Given the description of an element on the screen output the (x, y) to click on. 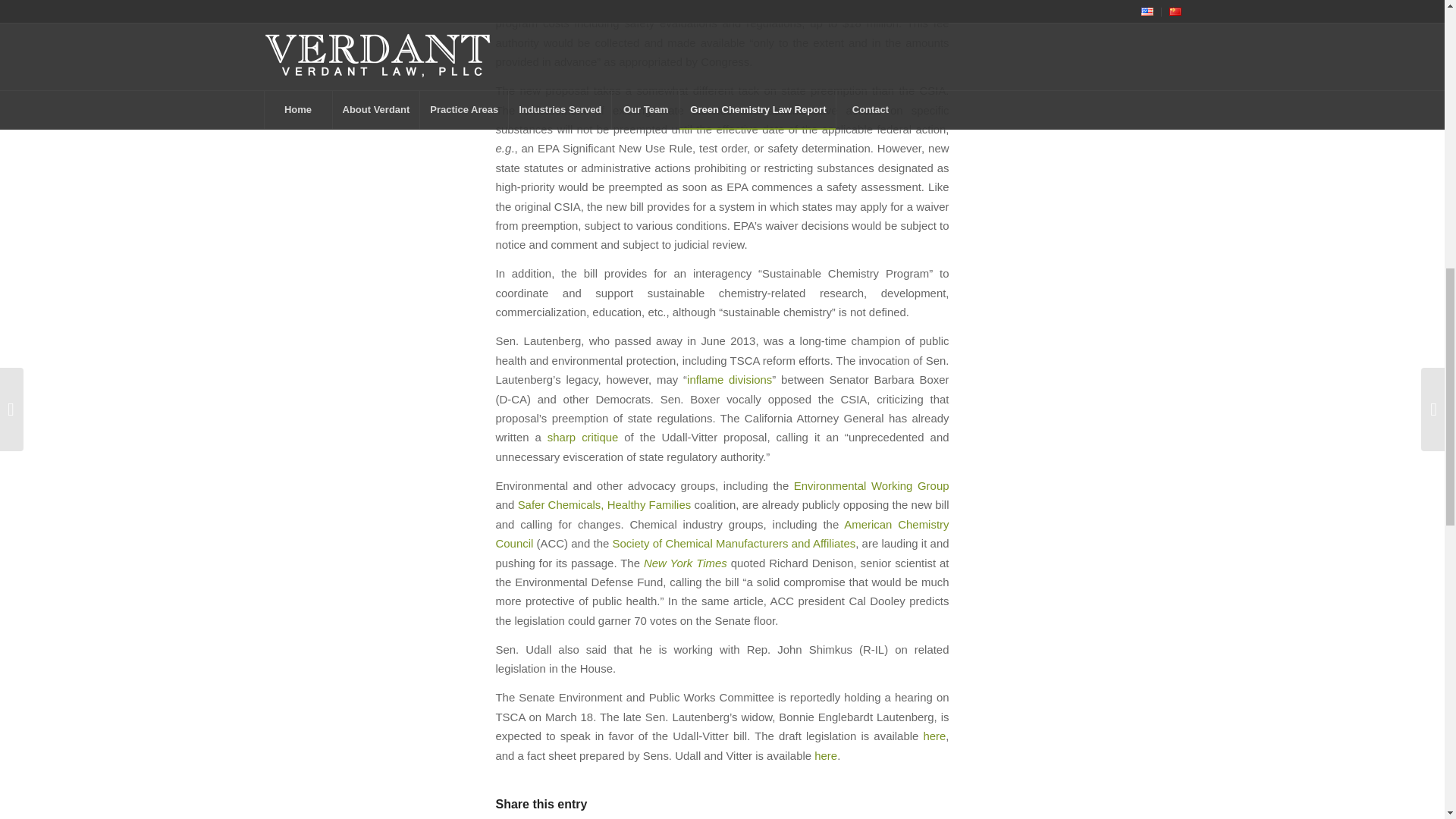
sharp critique (582, 436)
inflame divisions (729, 379)
here (825, 755)
New York Times (684, 562)
American Chemistry Council (722, 533)
Society of Chemical Manufacturers and Affiliates (734, 543)
Safer Chemicals, Healthy Families (604, 504)
Environmental Working Group (871, 485)
here (933, 735)
